Given the description of an element on the screen output the (x, y) to click on. 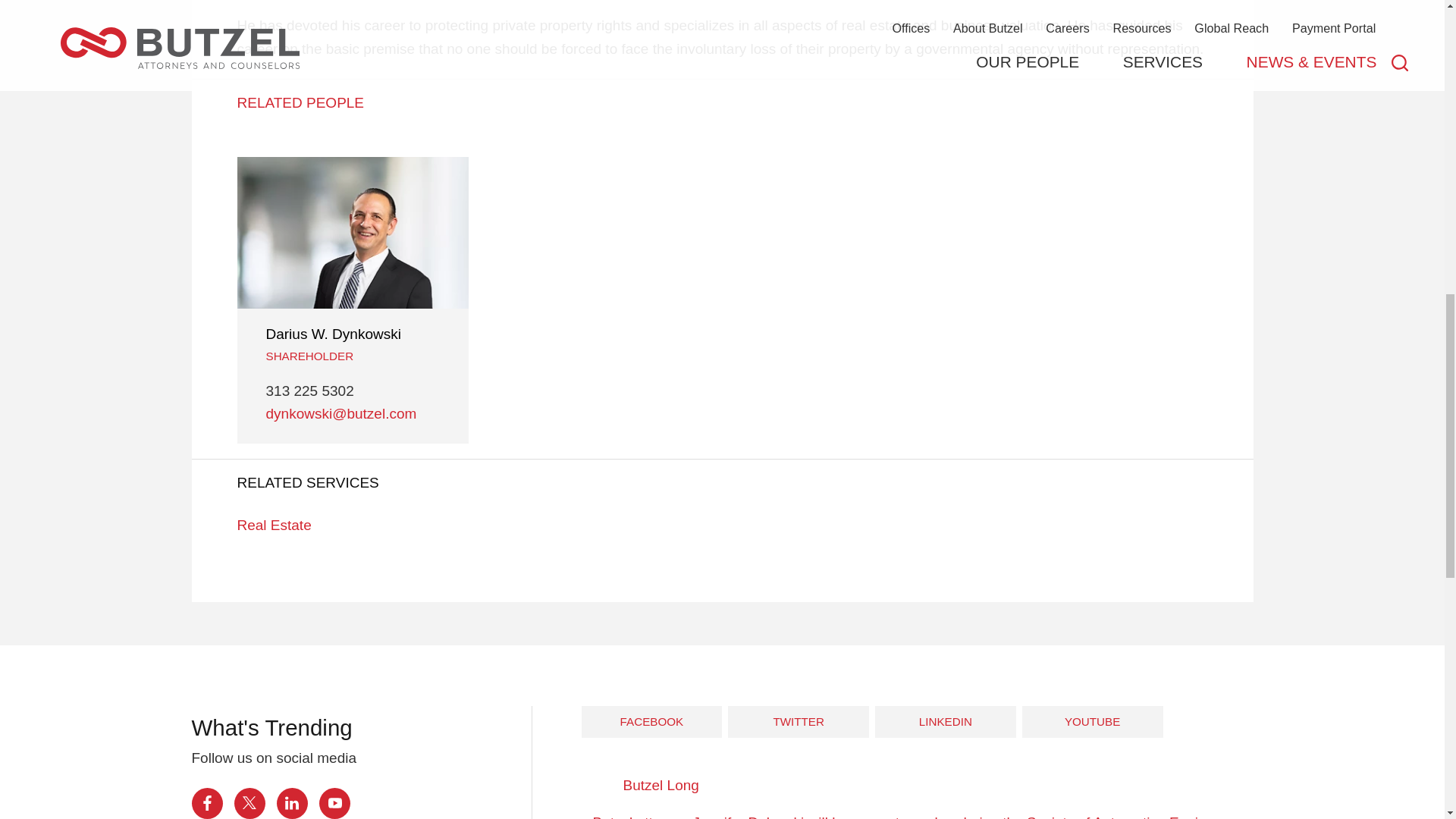
Facebook (206, 803)
LinkedIn (291, 803)
YouTube (334, 803)
X (249, 803)
